Given the description of an element on the screen output the (x, y) to click on. 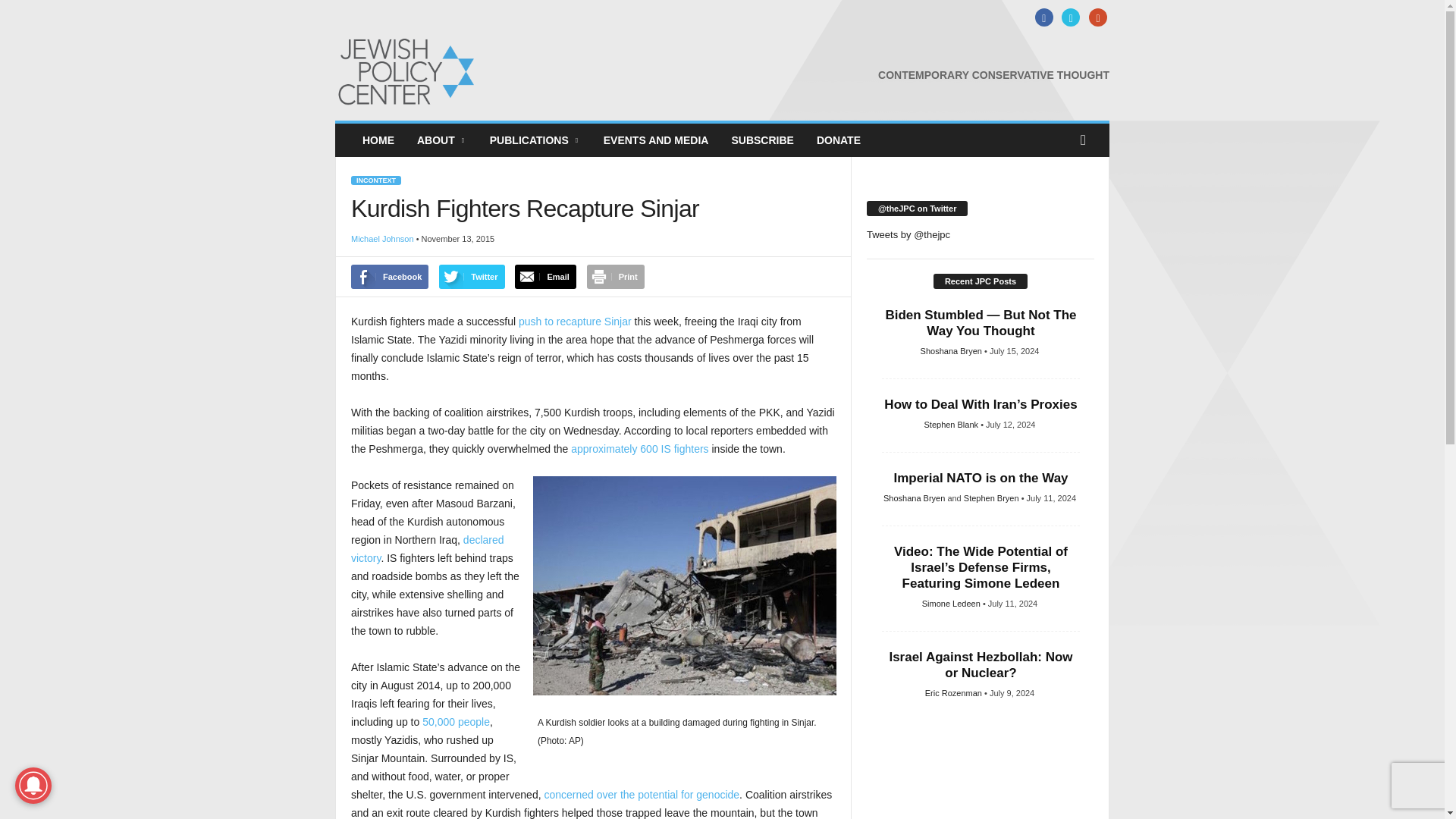
Twitter (1069, 18)
SUBSCRIBE (762, 140)
ABOUT (442, 140)
HOME (378, 140)
EVENTS AND MEDIA (656, 140)
Youtube (1095, 18)
DONATE (838, 140)
Jewish Policy Center (437, 70)
Facebook (1041, 18)
PUBLICATIONS (535, 140)
